Given the description of an element on the screen output the (x, y) to click on. 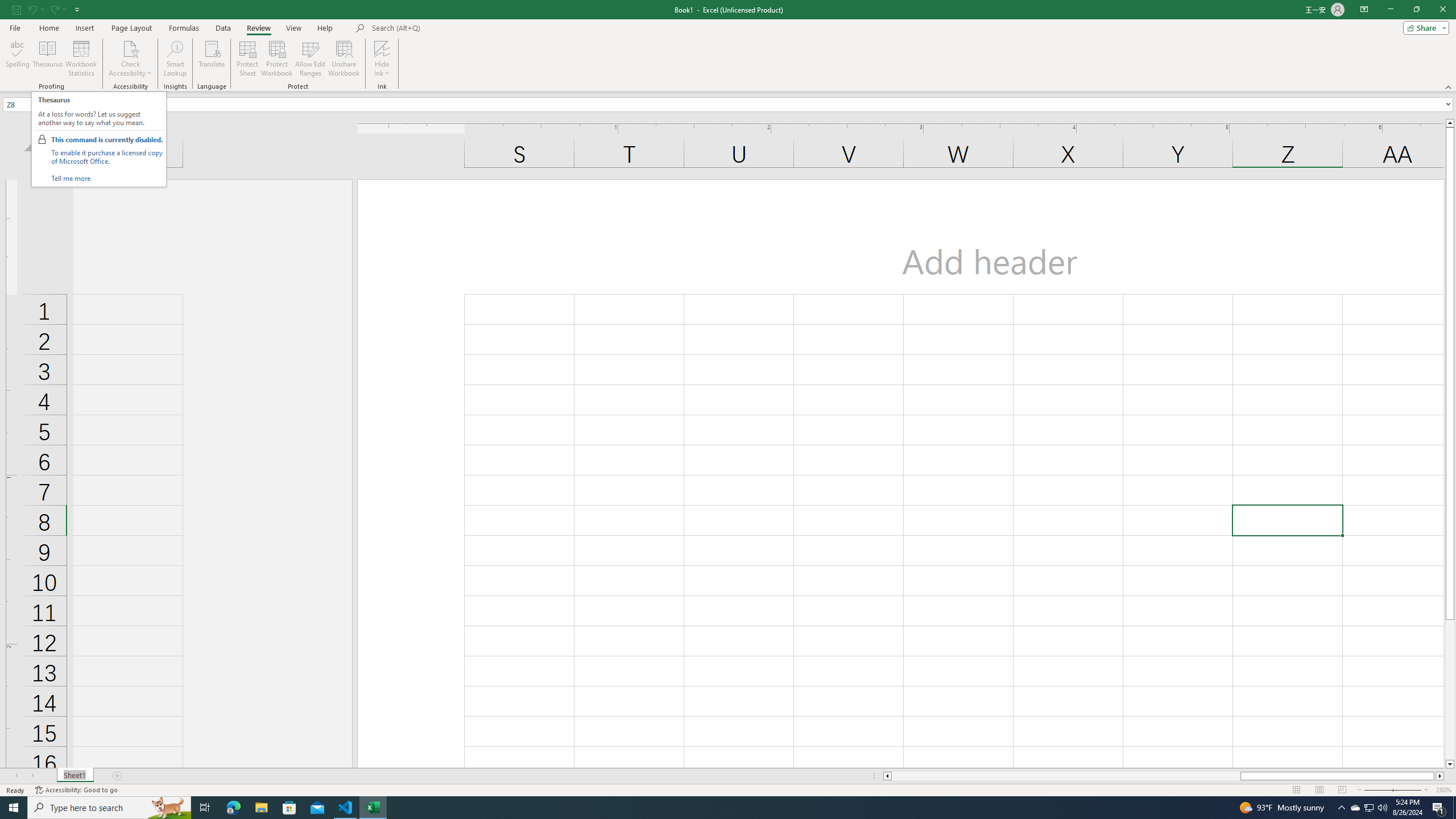
Allow Edit Ranges (310, 58)
Protect Sheet... (247, 58)
Protect Workbook... (277, 58)
Thesaurus... (47, 58)
Translate (211, 58)
